Given the description of an element on the screen output the (x, y) to click on. 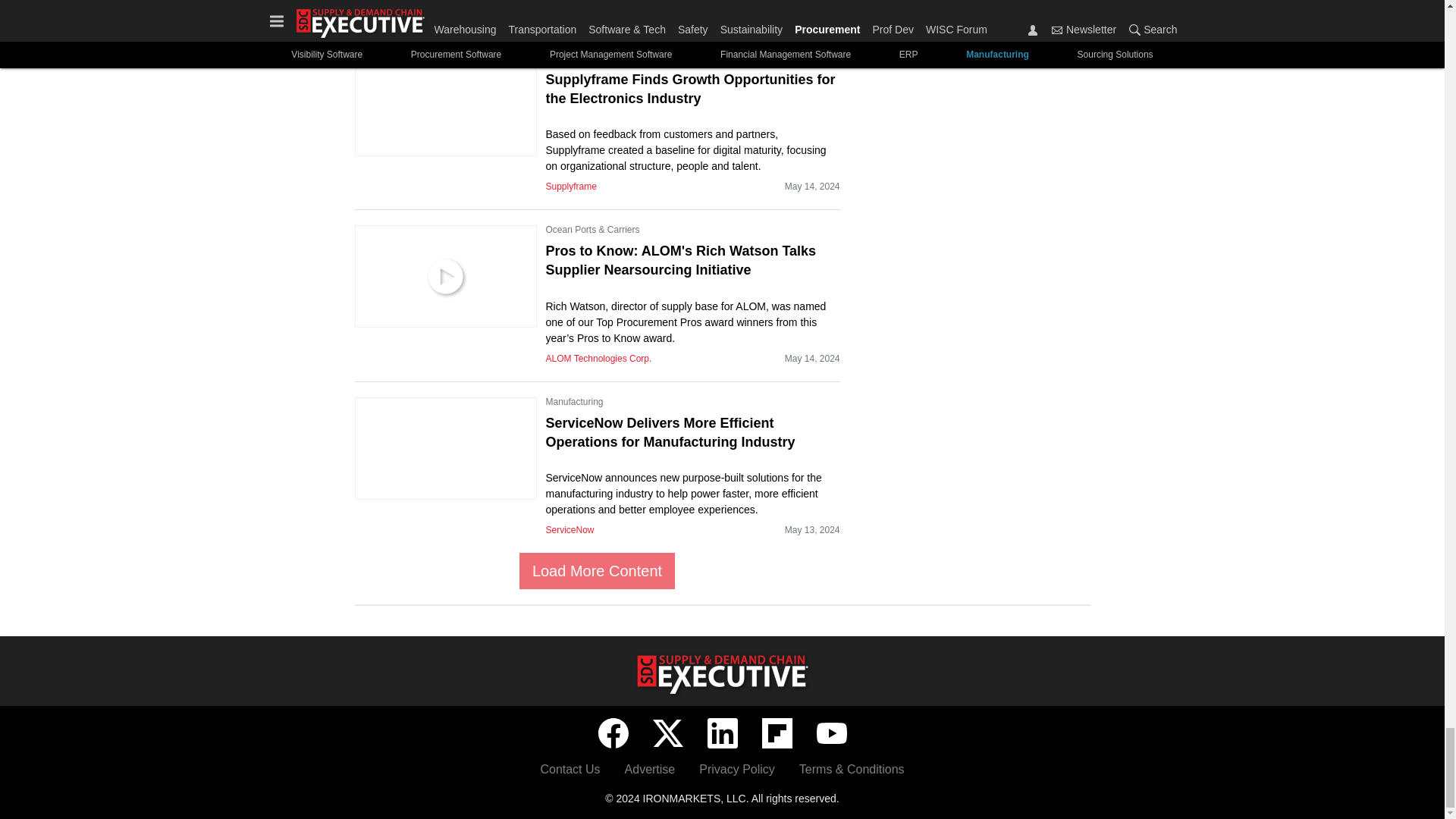
LinkedIn icon (721, 733)
Flipboard icon (776, 733)
Facebook icon (611, 733)
YouTube icon (830, 733)
Twitter X icon (667, 733)
